Given the description of an element on the screen output the (x, y) to click on. 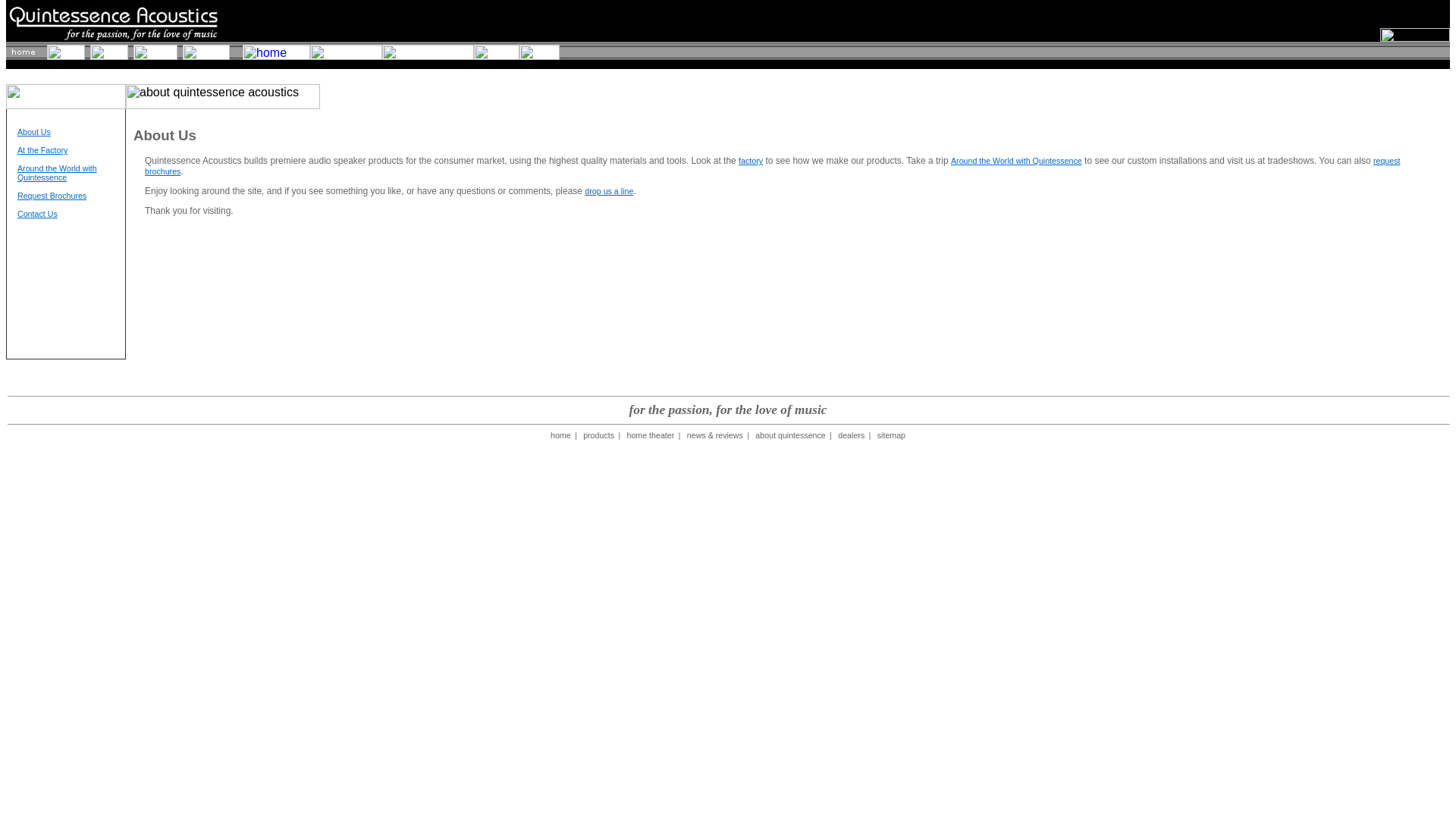
sitemap (891, 434)
About Us (33, 131)
Around the World with Quintessence (57, 172)
home (560, 434)
dealers (851, 434)
products (598, 434)
Request Brochures (51, 194)
home theater (650, 434)
Around the World with Quintessence (1015, 160)
drop us a line (609, 190)
Contact Us (37, 213)
At the Factory (41, 149)
about quintessence (790, 434)
factory (750, 160)
request brochures (772, 166)
